Given the description of an element on the screen output the (x, y) to click on. 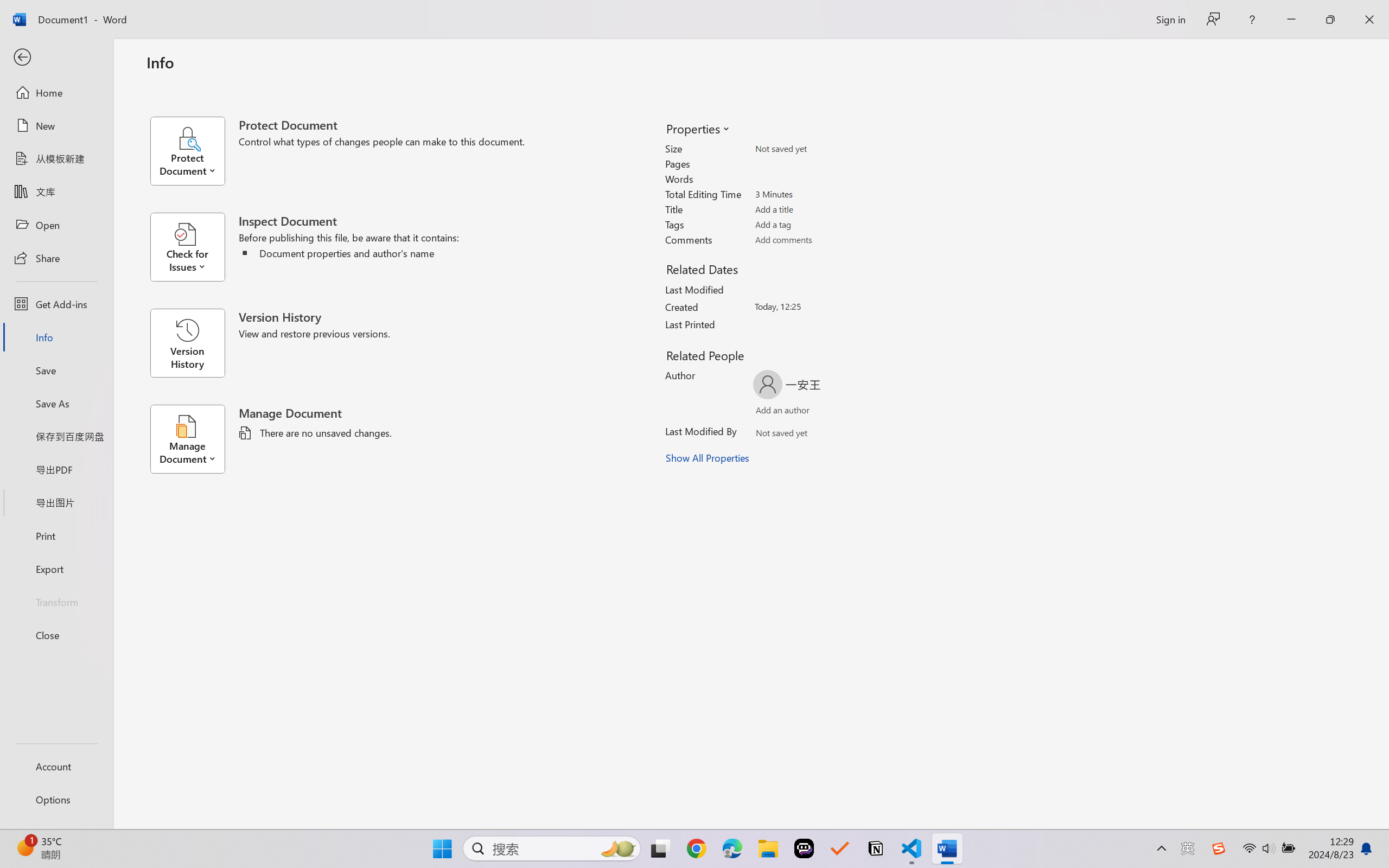
Tags (818, 223)
New (56, 125)
